Given the description of an element on the screen output the (x, y) to click on. 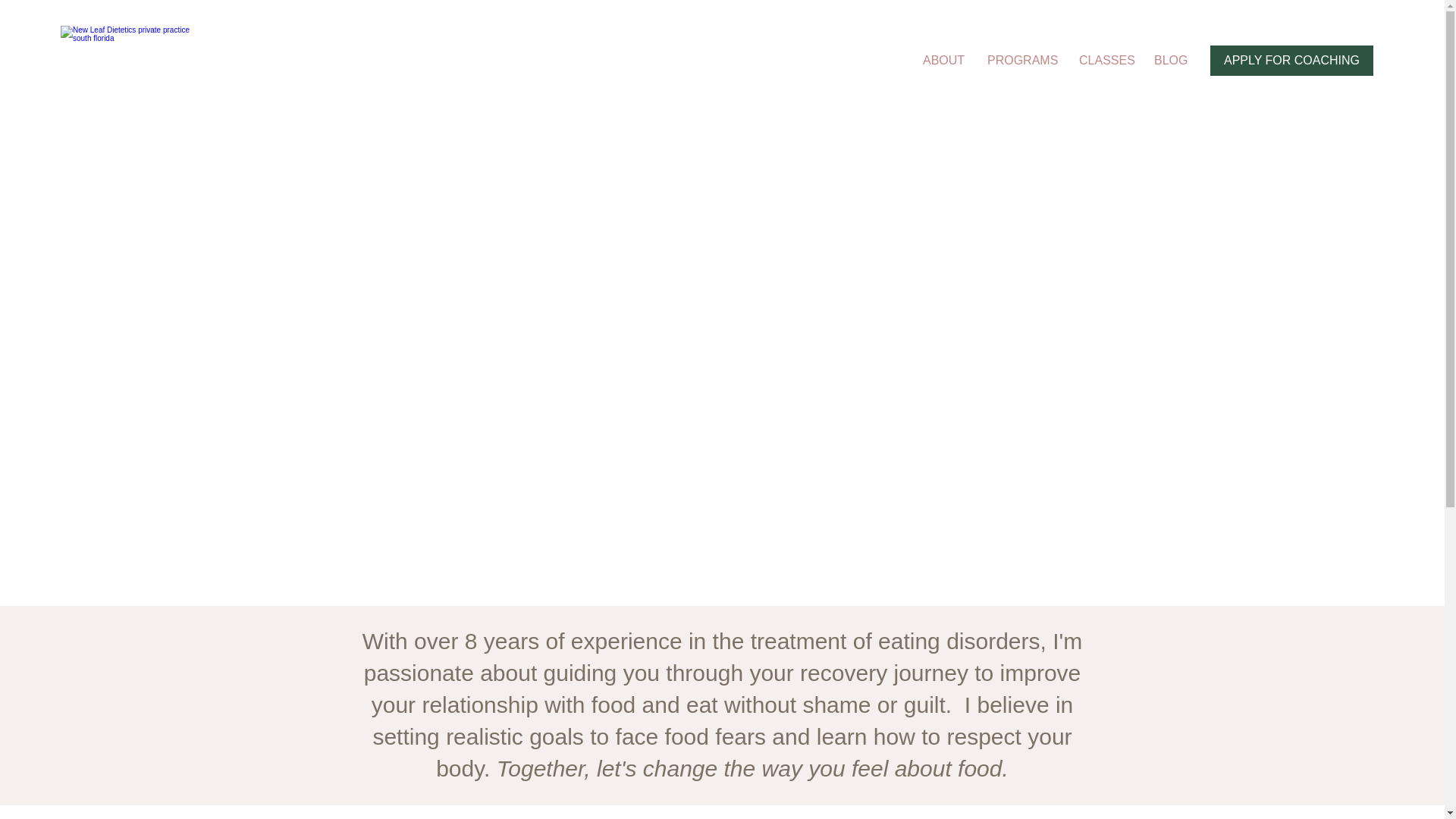
ABOUT (943, 60)
BLOG (1170, 60)
CLASSES (1104, 60)
PROGRAMS (1021, 60)
APPLY FOR COACHING (1291, 60)
